Given the description of an element on the screen output the (x, y) to click on. 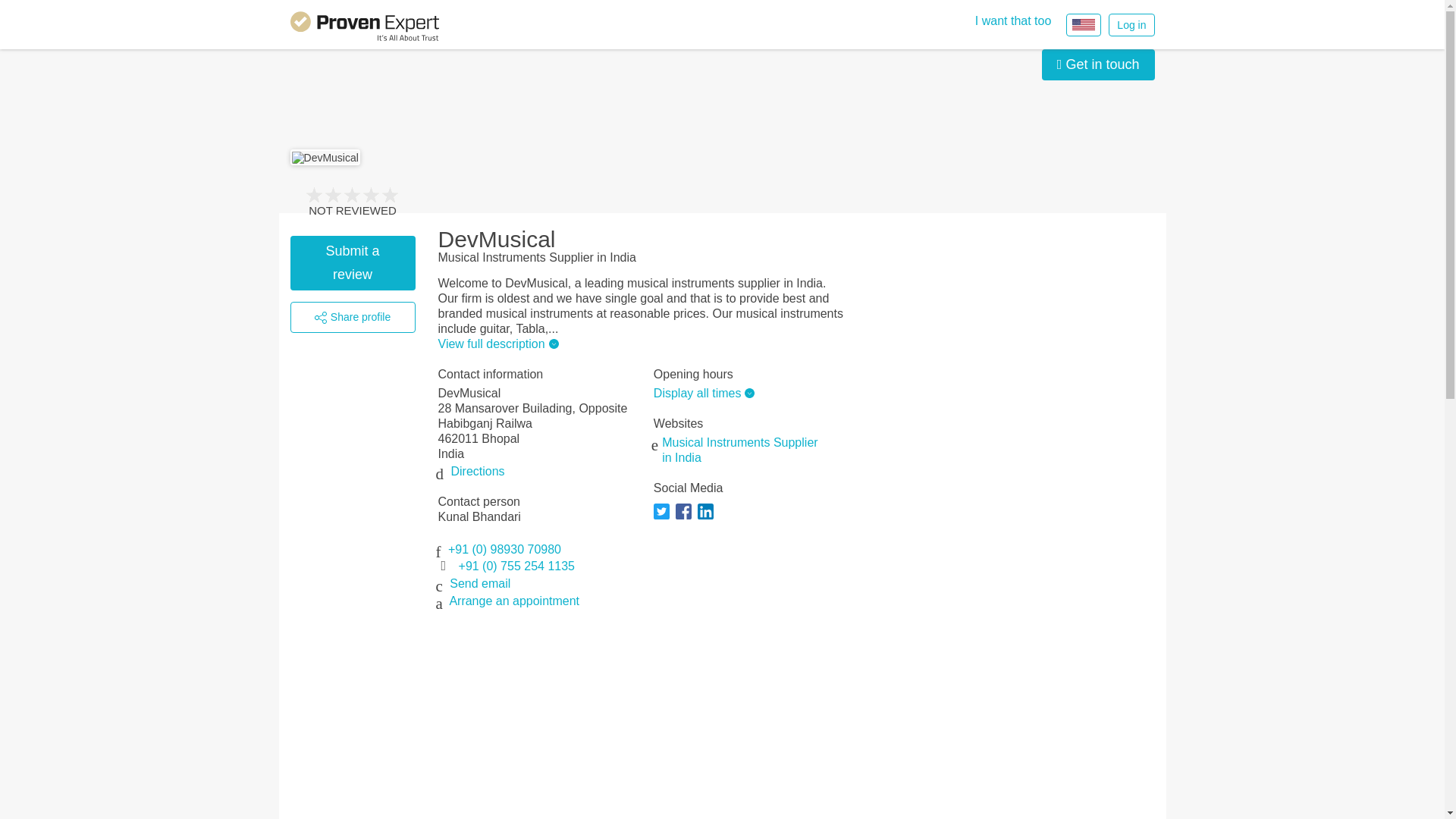
I want that too (1013, 20)
Arrange an appointment (513, 600)
Display all times (702, 392)
I want that too (1013, 20)
Log in (1131, 24)
Select your language (1082, 24)
Google Maps (476, 471)
Send email (480, 583)
Share profile (351, 317)
Go to Twitter profile of DevMusical (664, 518)
Share profile (351, 317)
Go to Facebook profile of DevMusical (686, 518)
Get in touch (1098, 64)
DevMusical (325, 157)
DevMusical review (351, 262)
